Given the description of an element on the screen output the (x, y) to click on. 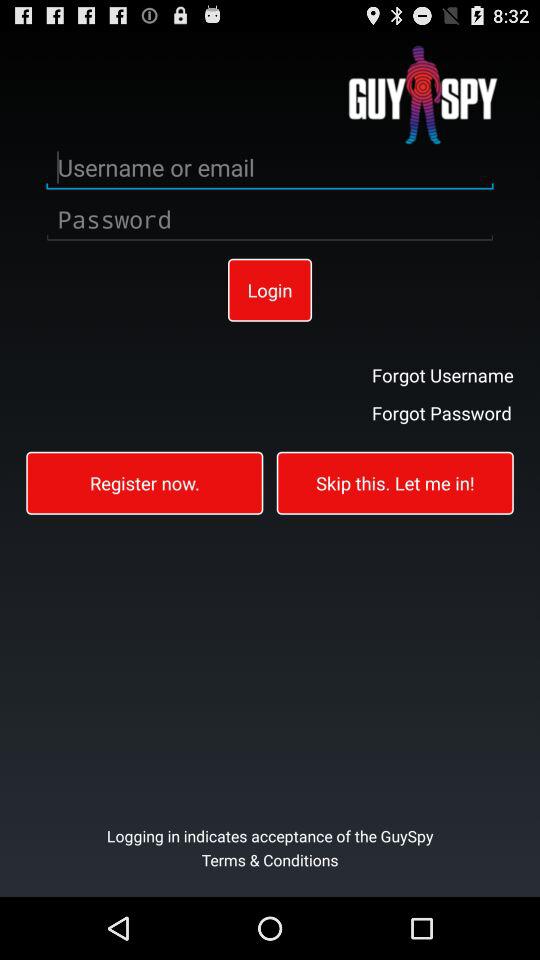
turn off the skip this let icon (394, 482)
